Given the description of an element on the screen output the (x, y) to click on. 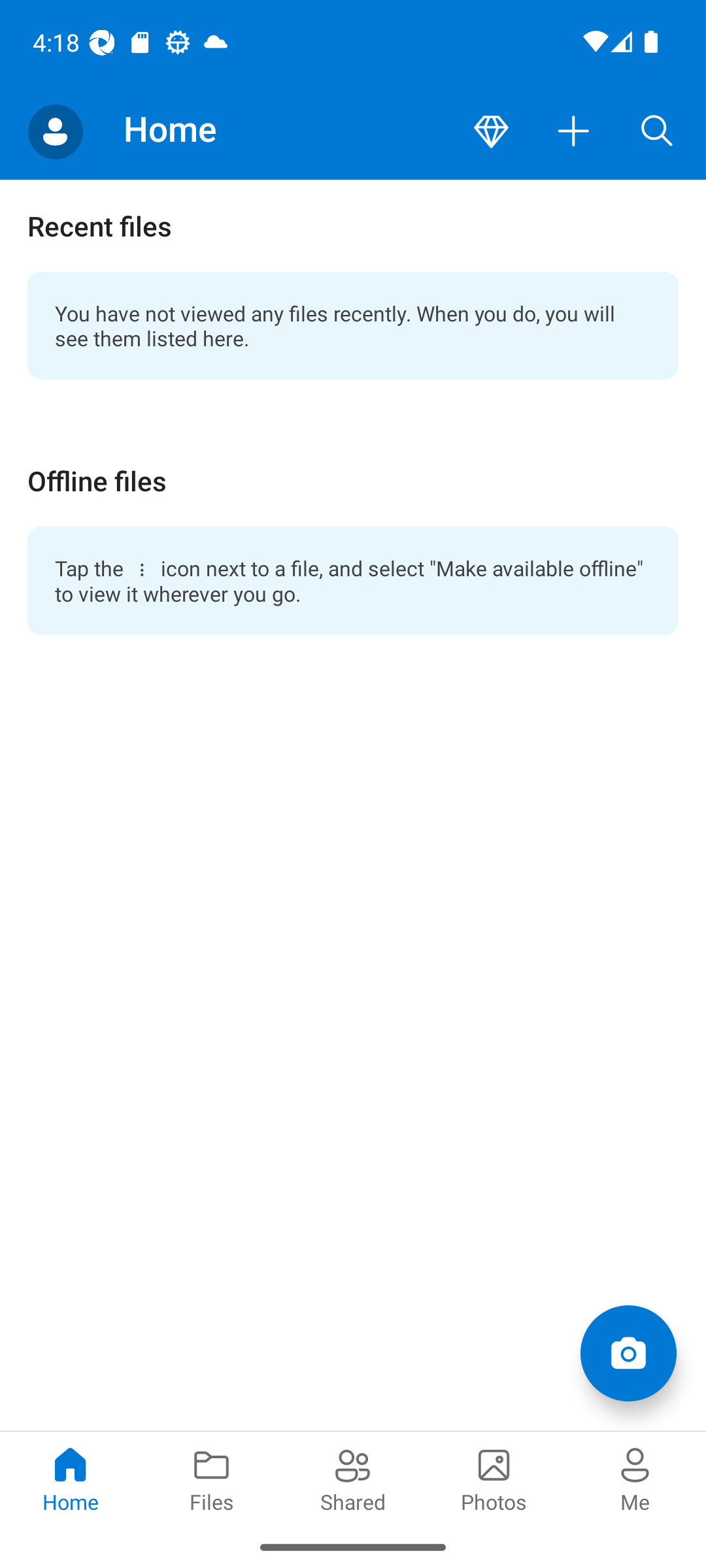
Account switcher (55, 131)
Premium button (491, 131)
More actions button (574, 131)
Search button (656, 131)
Scan (628, 1352)
Files pivot Files (211, 1478)
Shared pivot Shared (352, 1478)
Photos pivot Photos (493, 1478)
Me pivot Me (635, 1478)
